Given the description of an element on the screen output the (x, y) to click on. 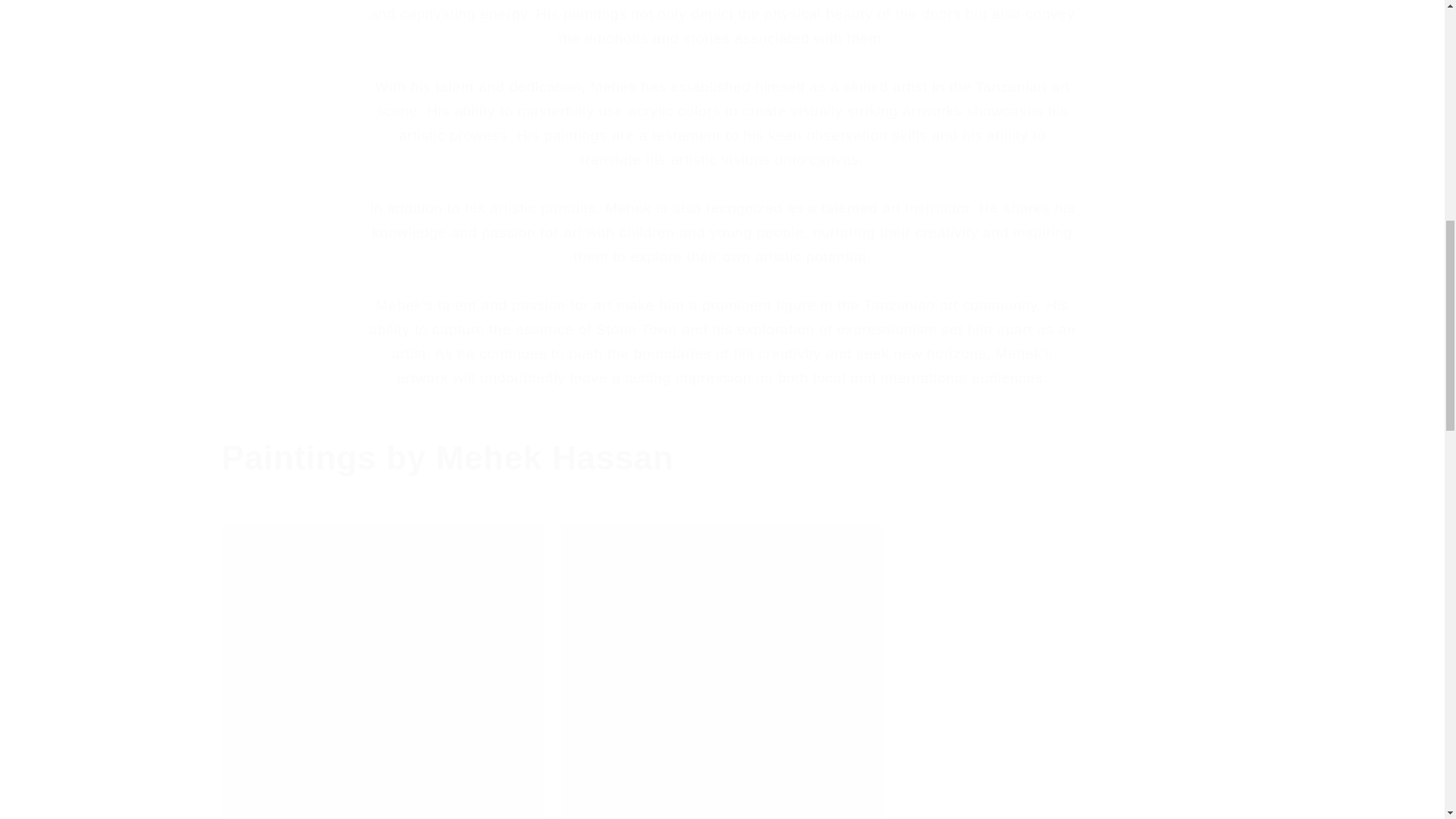
Paintings by Mehek Hassan (722, 457)
